Given the description of an element on the screen output the (x, y) to click on. 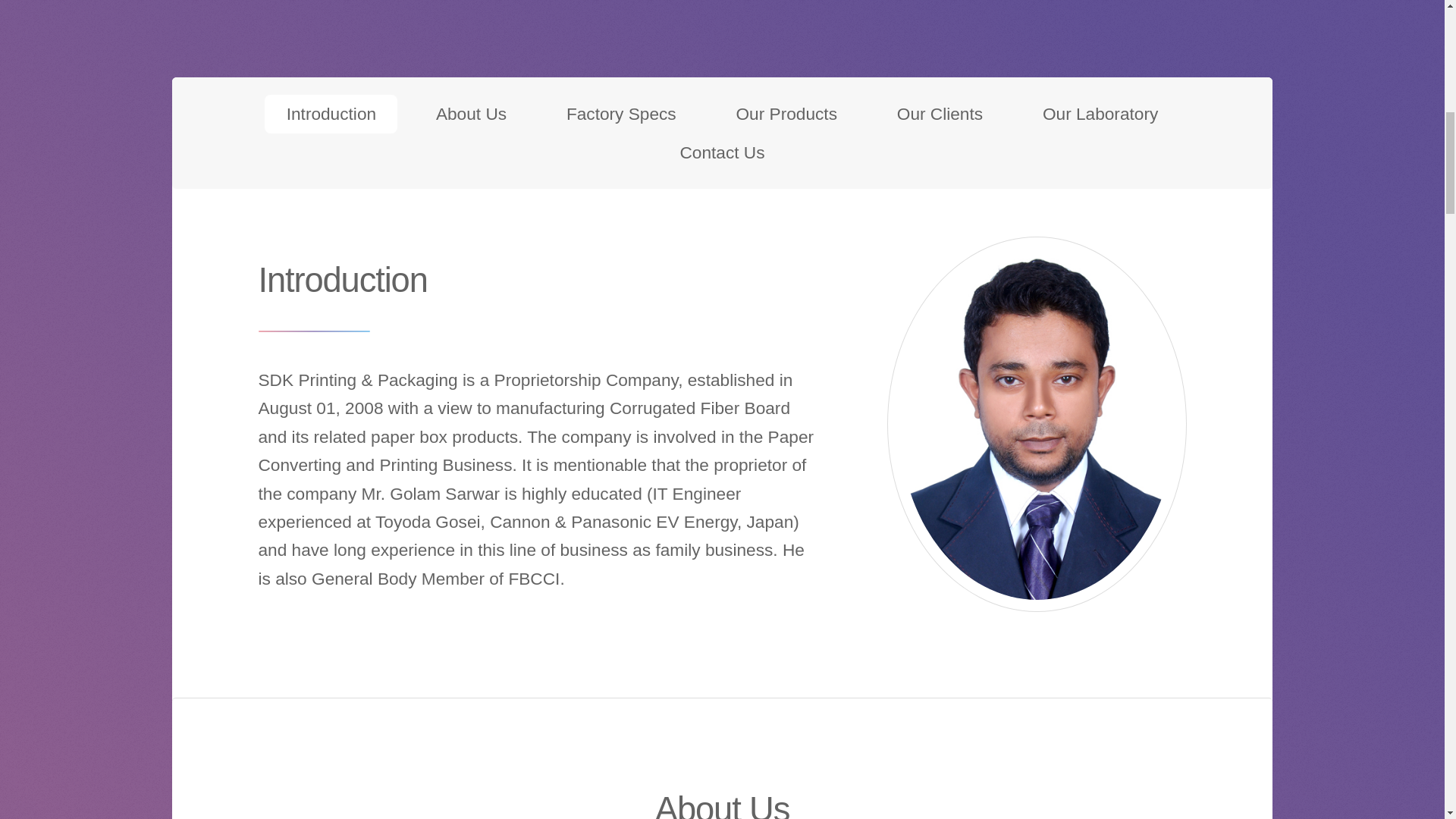
Our Clients (939, 114)
Our Products (786, 114)
Contact Us (722, 152)
Factory Specs (620, 114)
Our Laboratory (1100, 114)
Introduction (330, 114)
About Us (471, 114)
